Given the description of an element on the screen output the (x, y) to click on. 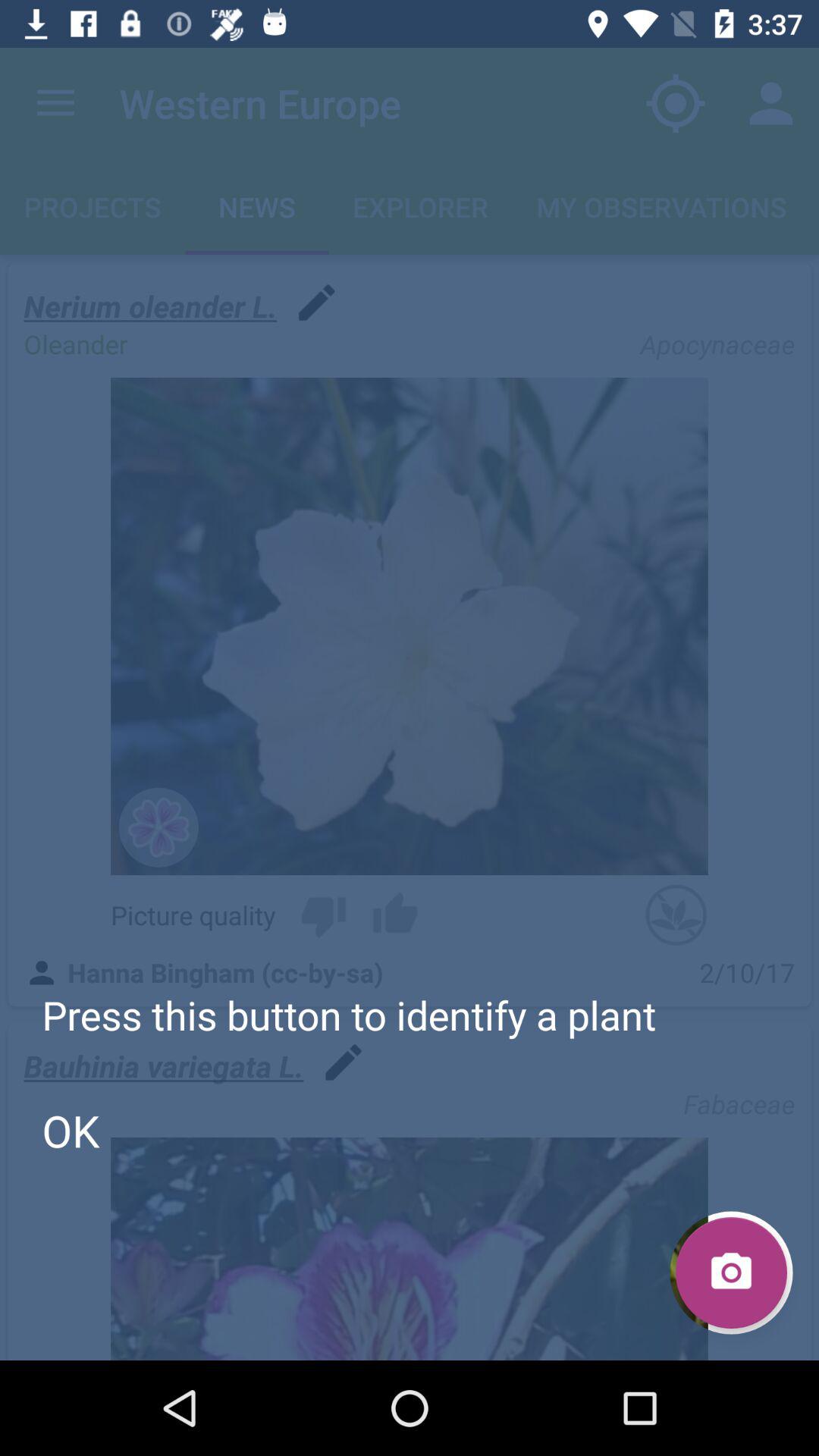
press the icon above the 2/10/17 icon (676, 914)
